Given the description of an element on the screen output the (x, y) to click on. 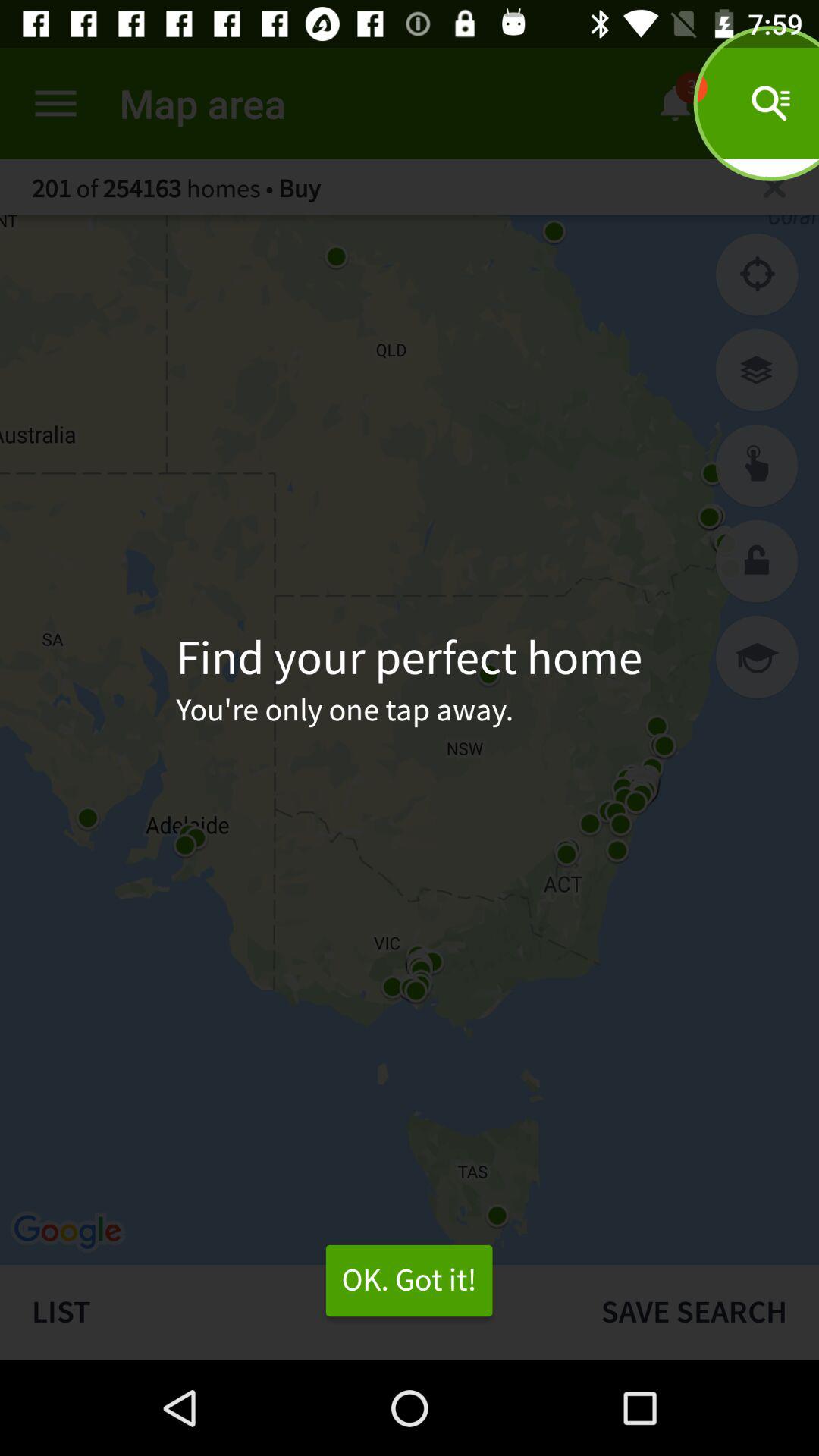
press ok. got it! icon (408, 1280)
